Given the description of an element on the screen output the (x, y) to click on. 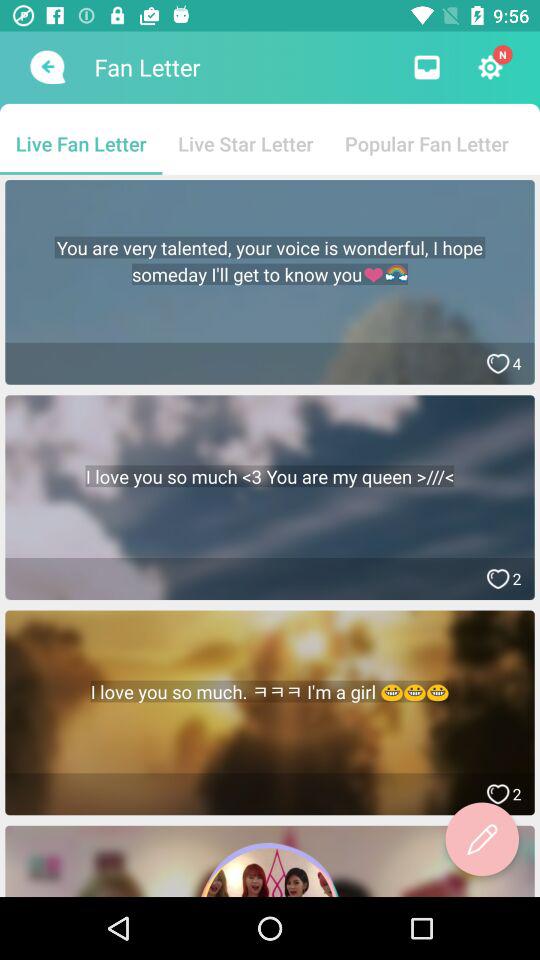
go back (45, 67)
